Given the description of an element on the screen output the (x, y) to click on. 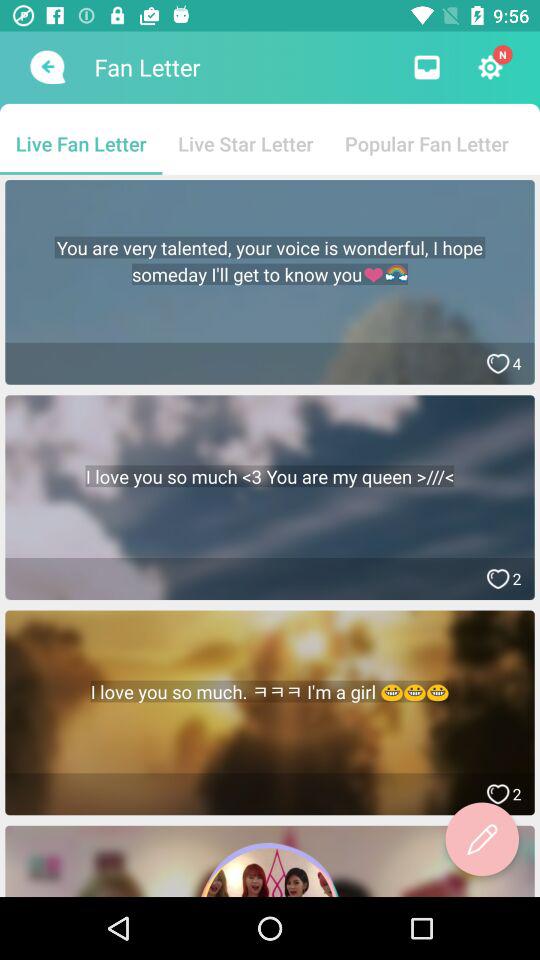
go back (45, 67)
